Given the description of an element on the screen output the (x, y) to click on. 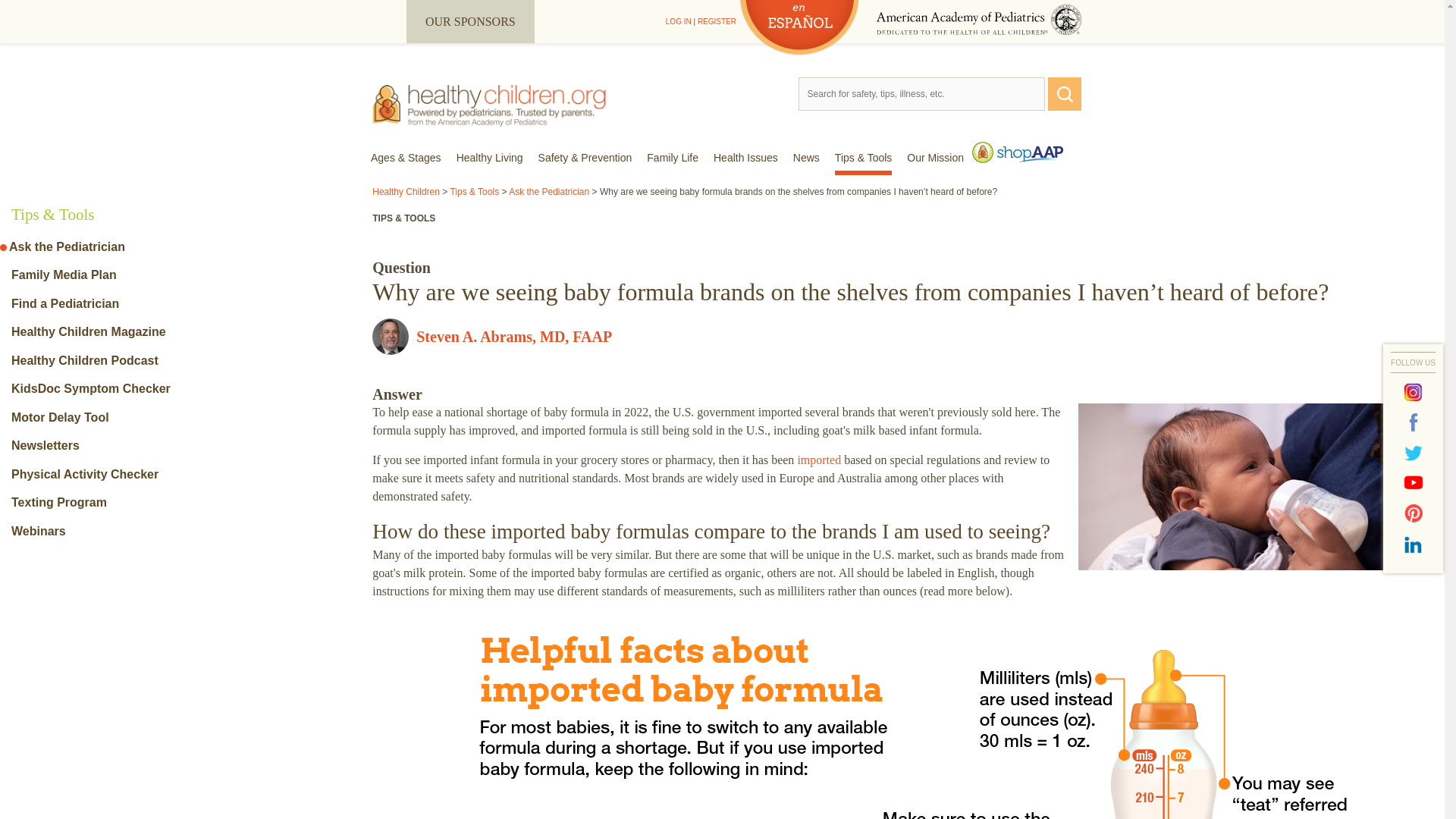
LOG IN (678, 21)
Instagram (1413, 391)
OUR SPONSORS (470, 21)
Twitter (1413, 452)
REGISTER (716, 21)
Facebook (1413, 422)
YouTube (1413, 482)
Pinterest (1413, 513)
Linked In (1413, 543)
